Given the description of an element on the screen output the (x, y) to click on. 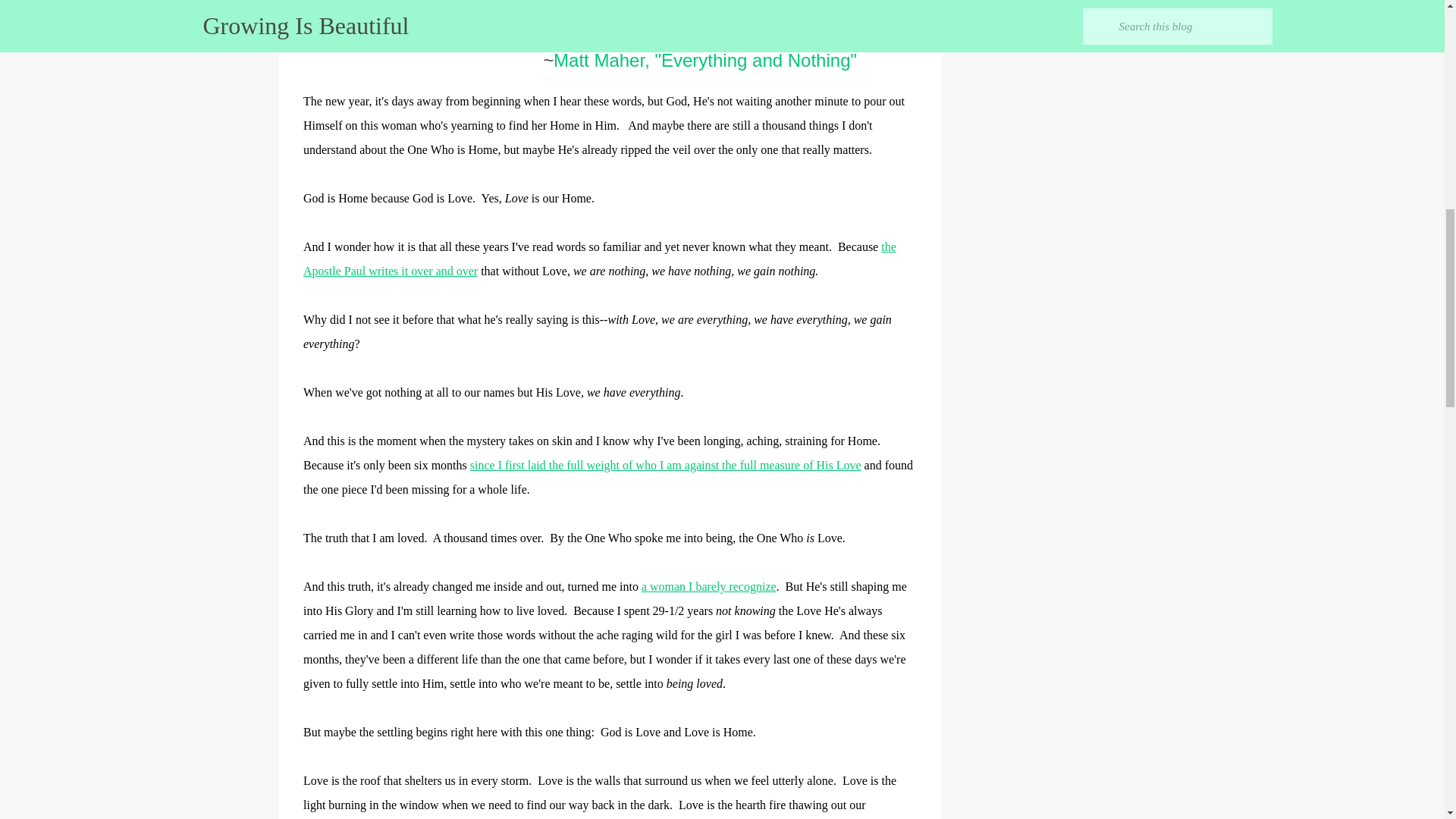
Matt Maher, "Everything and Nothing" (705, 59)
the Apostle Paul writes it over and over (599, 258)
a woman I barely recognize (709, 585)
